Given the description of an element on the screen output the (x, y) to click on. 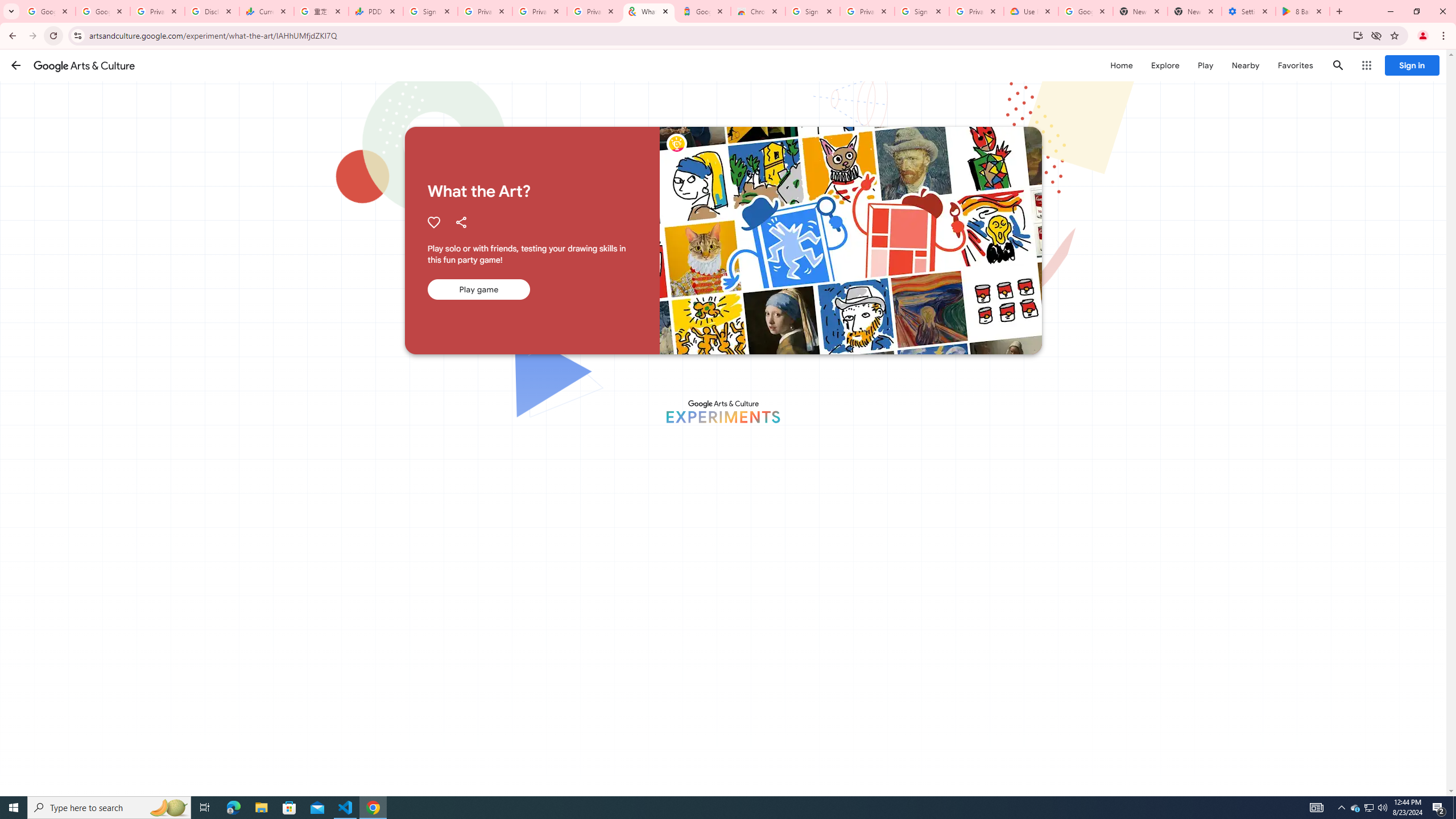
Play game (477, 289)
Google (703, 11)
Install Google Arts & Culture (1358, 35)
